Given the description of an element on the screen output the (x, y) to click on. 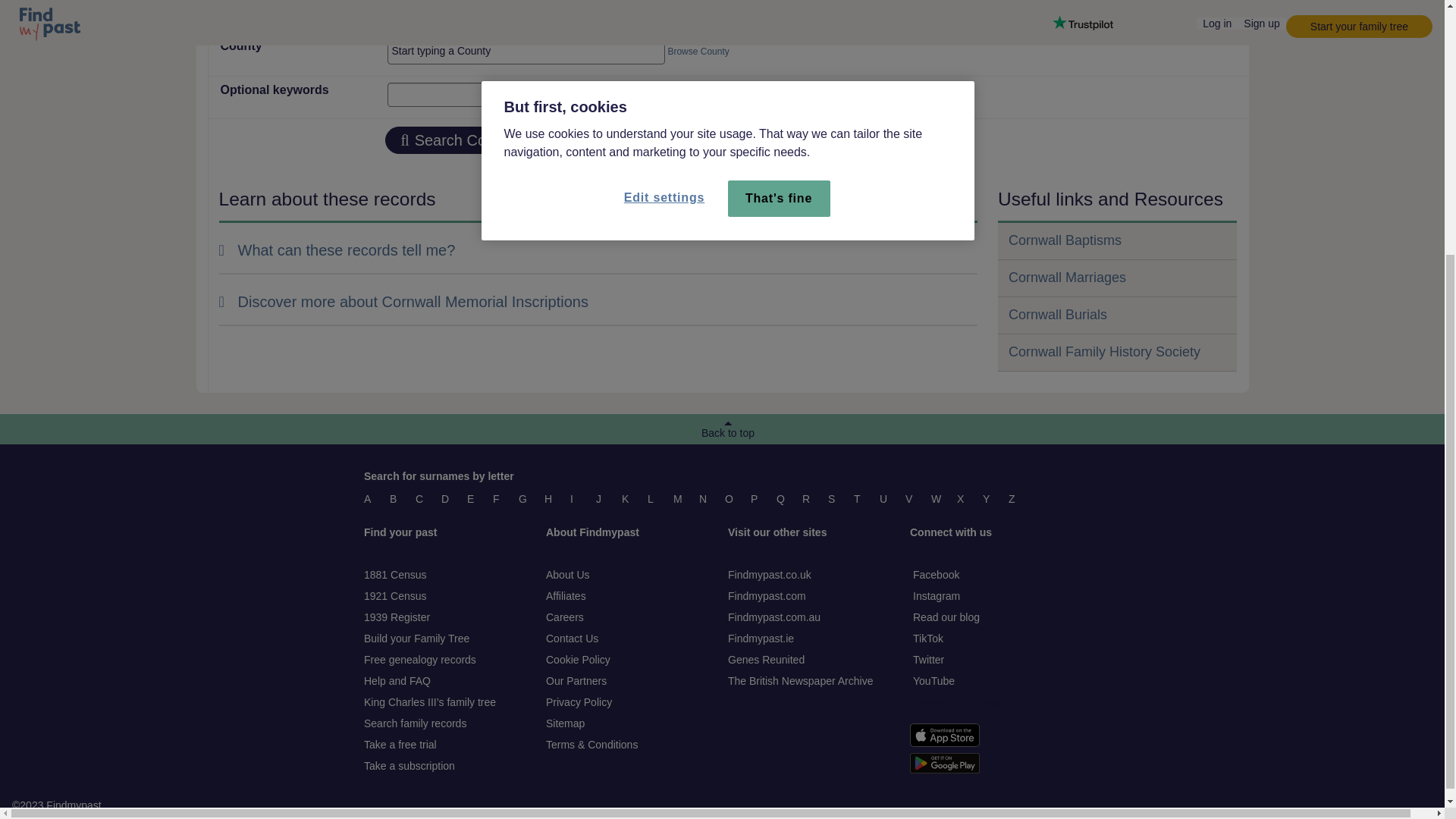
Clear search (724, 140)
Cornwall Marriages (1067, 277)
Cornwall Burials (1057, 314)
Back to top (728, 429)
Discover more about Cornwall Memorial Inscriptions (403, 301)
Search Cornwall Memorial Inscriptions (536, 139)
Browse Place (694, 7)
Cornwall Family History Society (1104, 351)
A (370, 498)
Browse County (697, 50)
B (396, 498)
What can these records tell me? (336, 249)
Cornwall Baptisms (1065, 240)
